Given the description of an element on the screen output the (x, y) to click on. 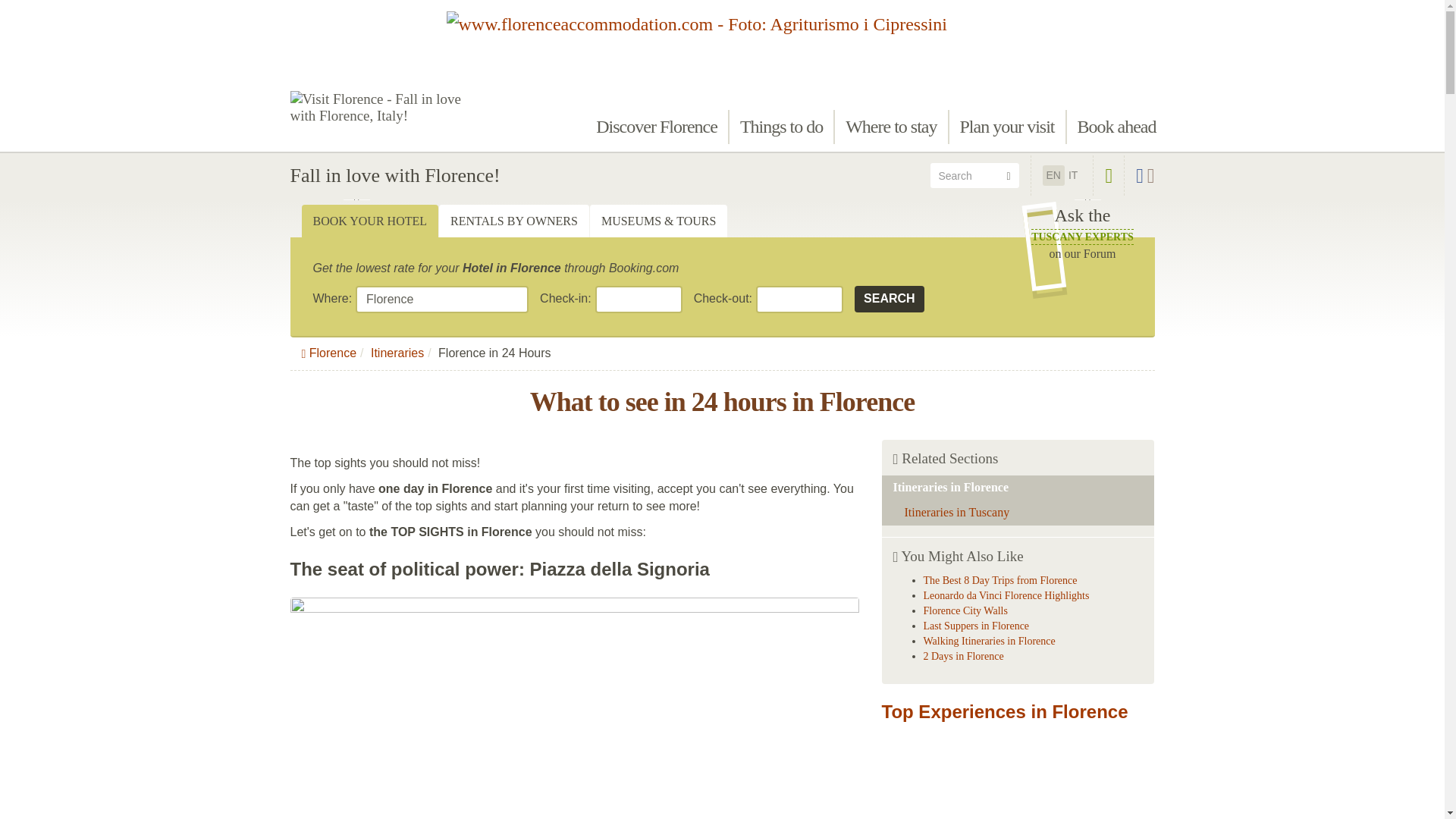
Florence (441, 298)
Florence in 24 Hours - English (1053, 174)
City, Region, Country, Landmark, Hotel, District (441, 298)
Search (781, 126)
 - Italiano (890, 126)
